Given the description of an element on the screen output the (x, y) to click on. 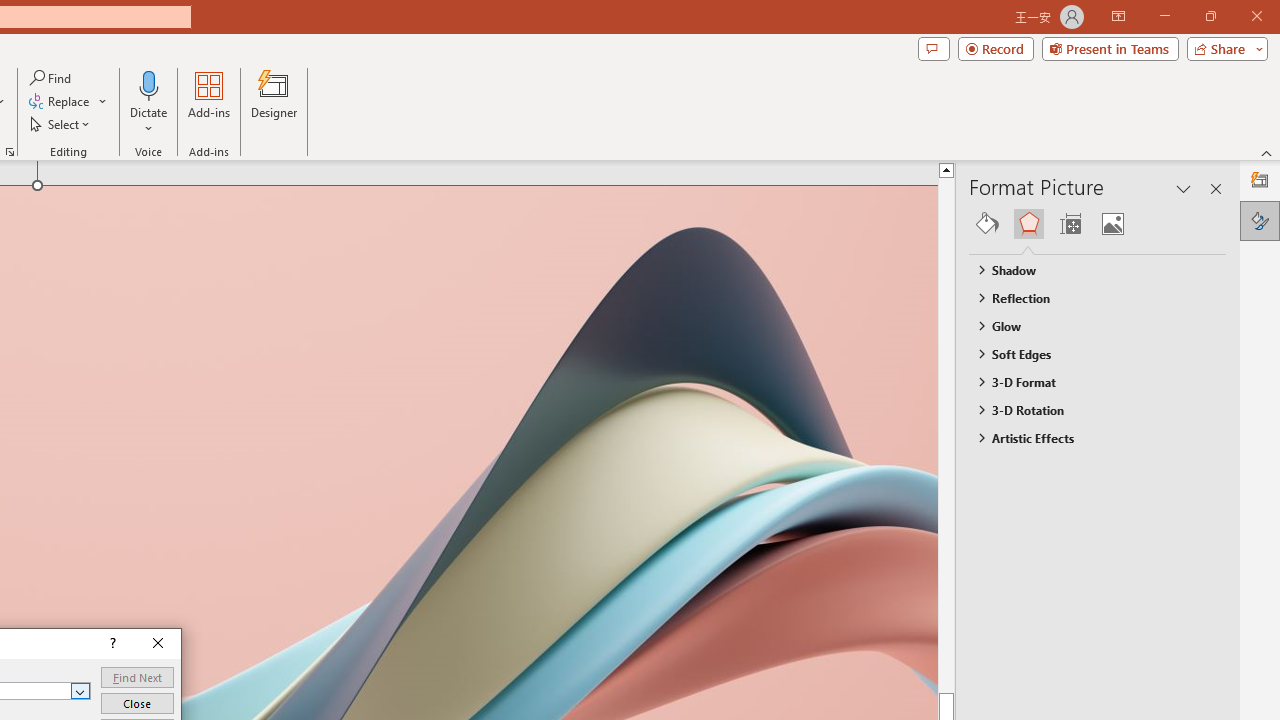
Artistic Effects (1088, 438)
Glow (1088, 325)
Reflection (1088, 297)
Size & Properties (1070, 223)
3-D Rotation (1088, 410)
Effects (1028, 223)
